Given the description of an element on the screen output the (x, y) to click on. 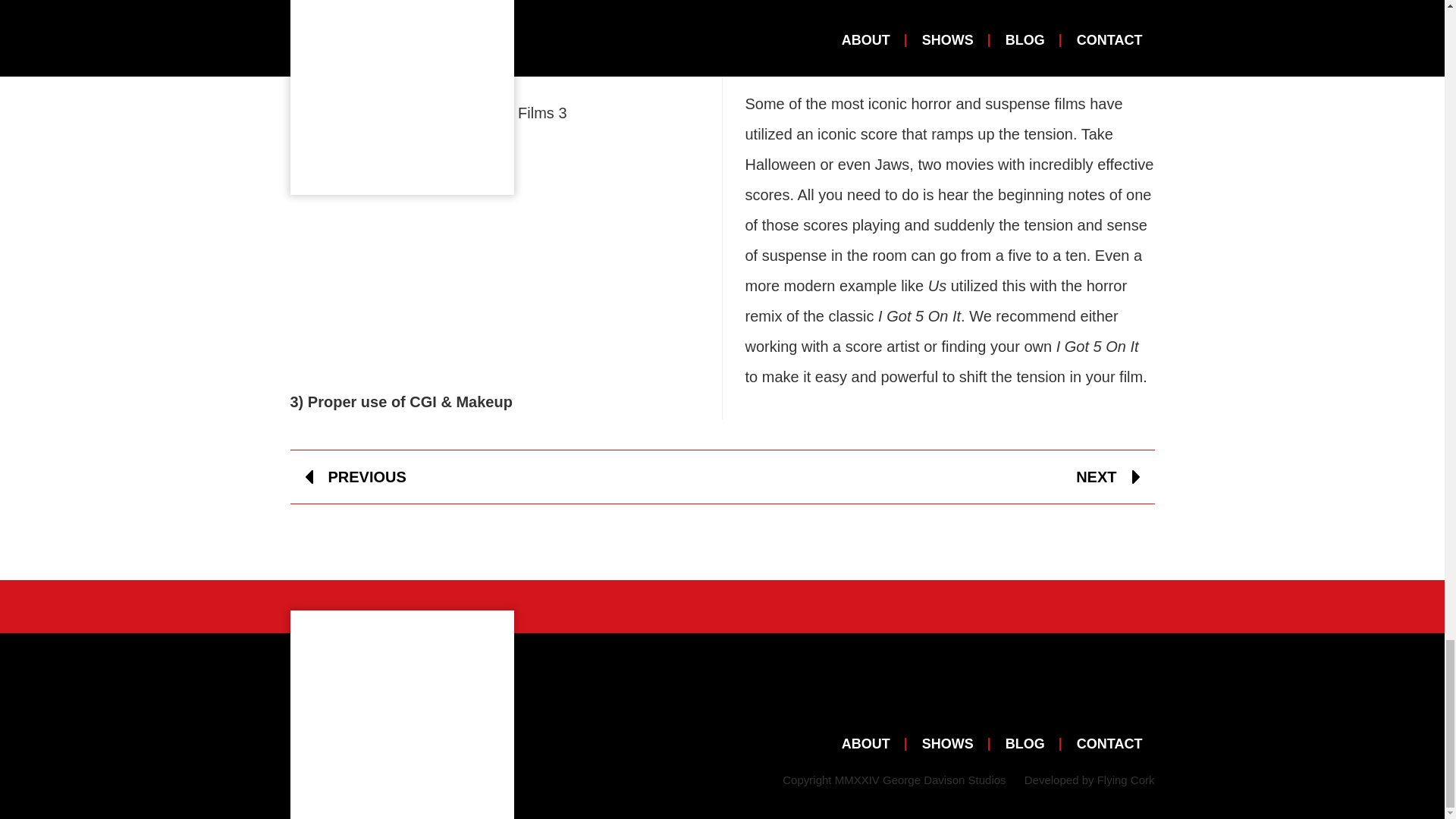
PREVIOUS (355, 476)
Instagram (1058, 693)
Developed by Flying Cork (1089, 779)
BLOG (1024, 743)
Twitter (1122, 693)
About George Davison Studios (871, 743)
CONTACT (1109, 743)
Instagram (1058, 693)
Twitter (1122, 693)
NEXT (1106, 476)
